Given the description of an element on the screen output the (x, y) to click on. 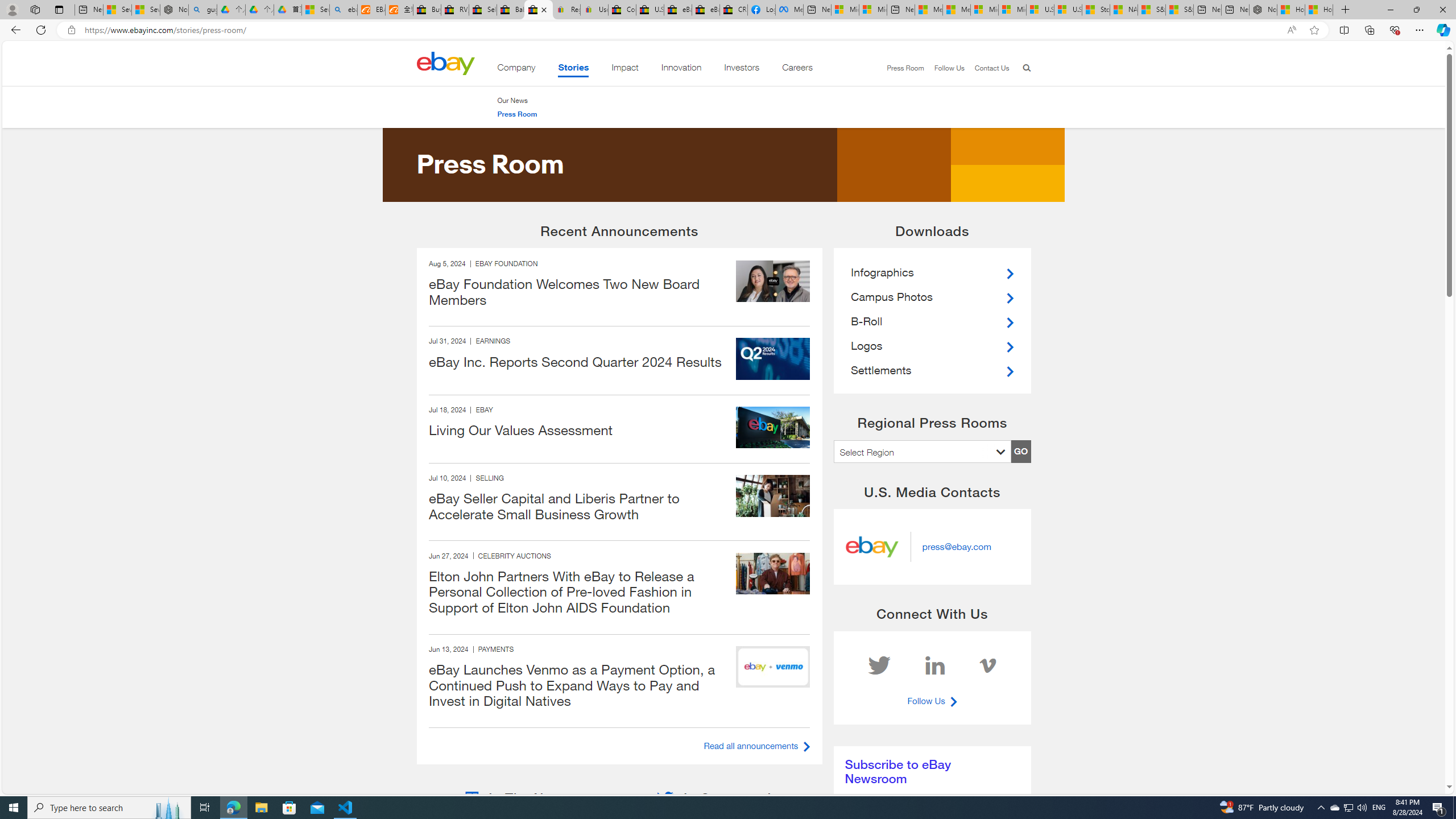
Contact Us (986, 68)
Add this page to favorites (Ctrl+D) (1314, 29)
Investors (741, 69)
240612 eBay inc hero (772, 666)
Q2 2024 Results (772, 358)
